Given the description of an element on the screen output the (x, y) to click on. 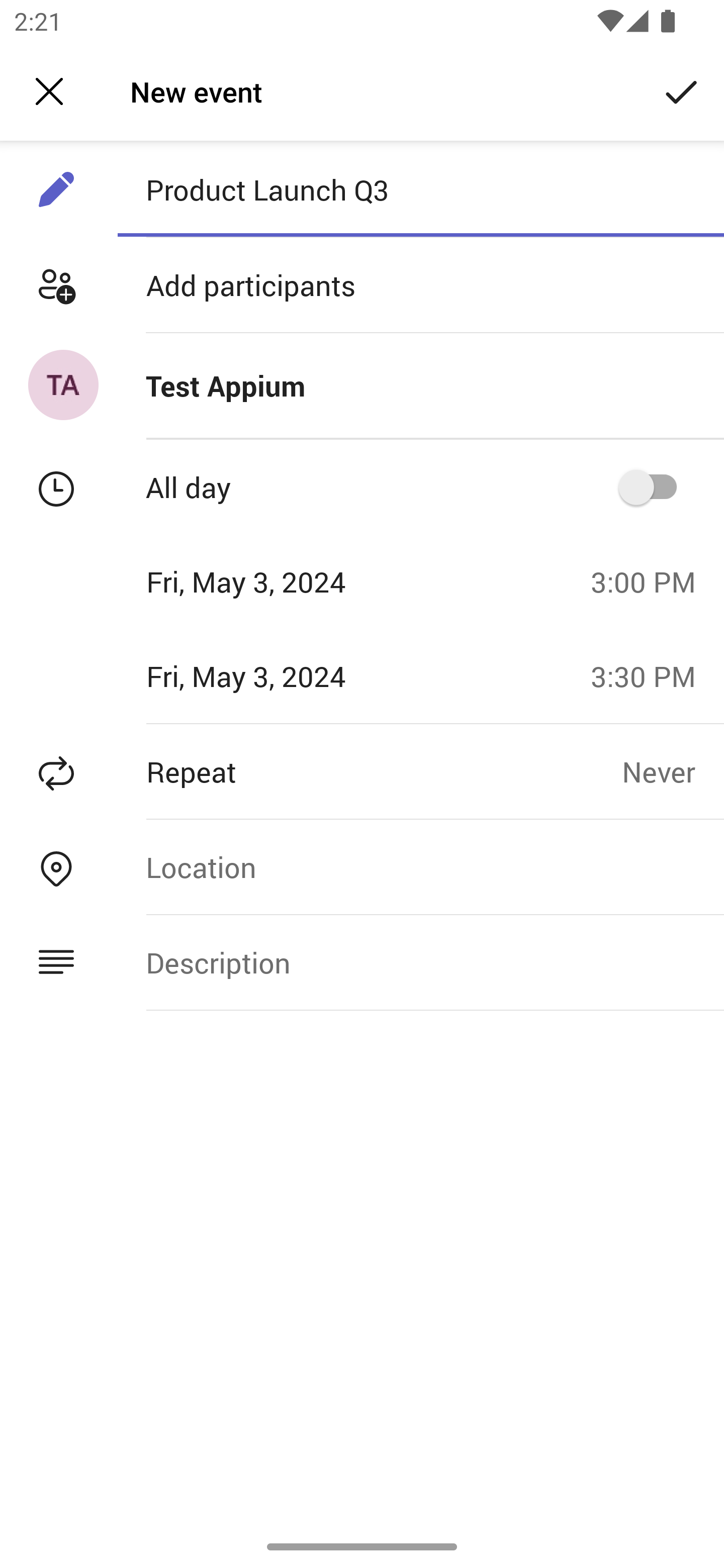
Back (49, 91)
Send invite (681, 90)
Product Launch Q3 (420, 189)
Add participants Add participants option (362, 285)
All day (654, 486)
Fri, May 3, 2024 Starts Friday May 03, 2024 (288, 581)
3:00 PM Start time 3:00 PM (650, 581)
Fri, May 3, 2024 Ends Friday May 03, 2024 (288, 675)
3:30 PM End time 3:30 PM (650, 675)
Repeat (310, 771)
Never Repeat Never (672, 771)
Location (420, 867)
Description (420, 962)
